Given the description of an element on the screen output the (x, y) to click on. 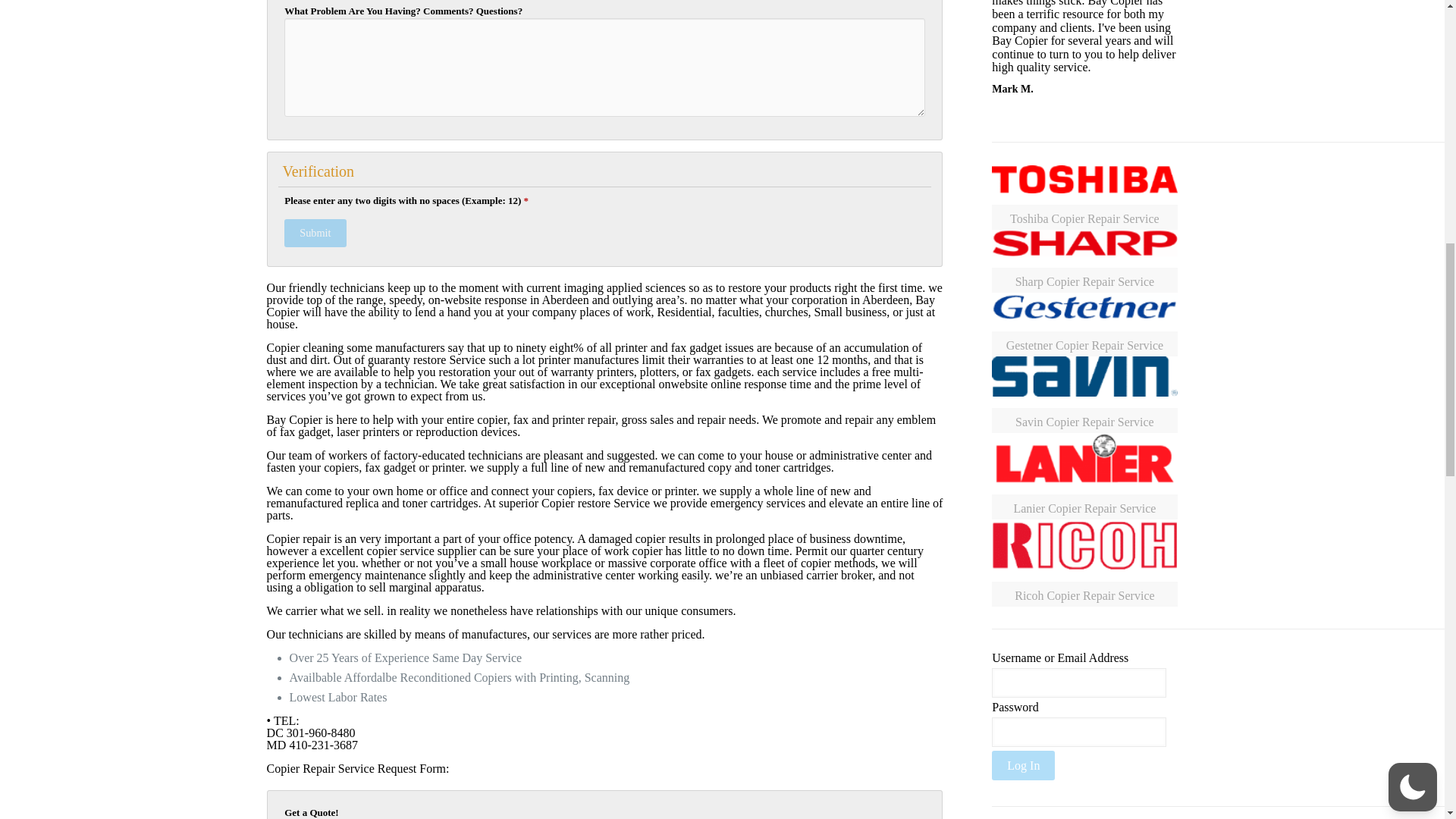
Submit (314, 233)
Log In (1022, 765)
Submit (314, 233)
